Given the description of an element on the screen output the (x, y) to click on. 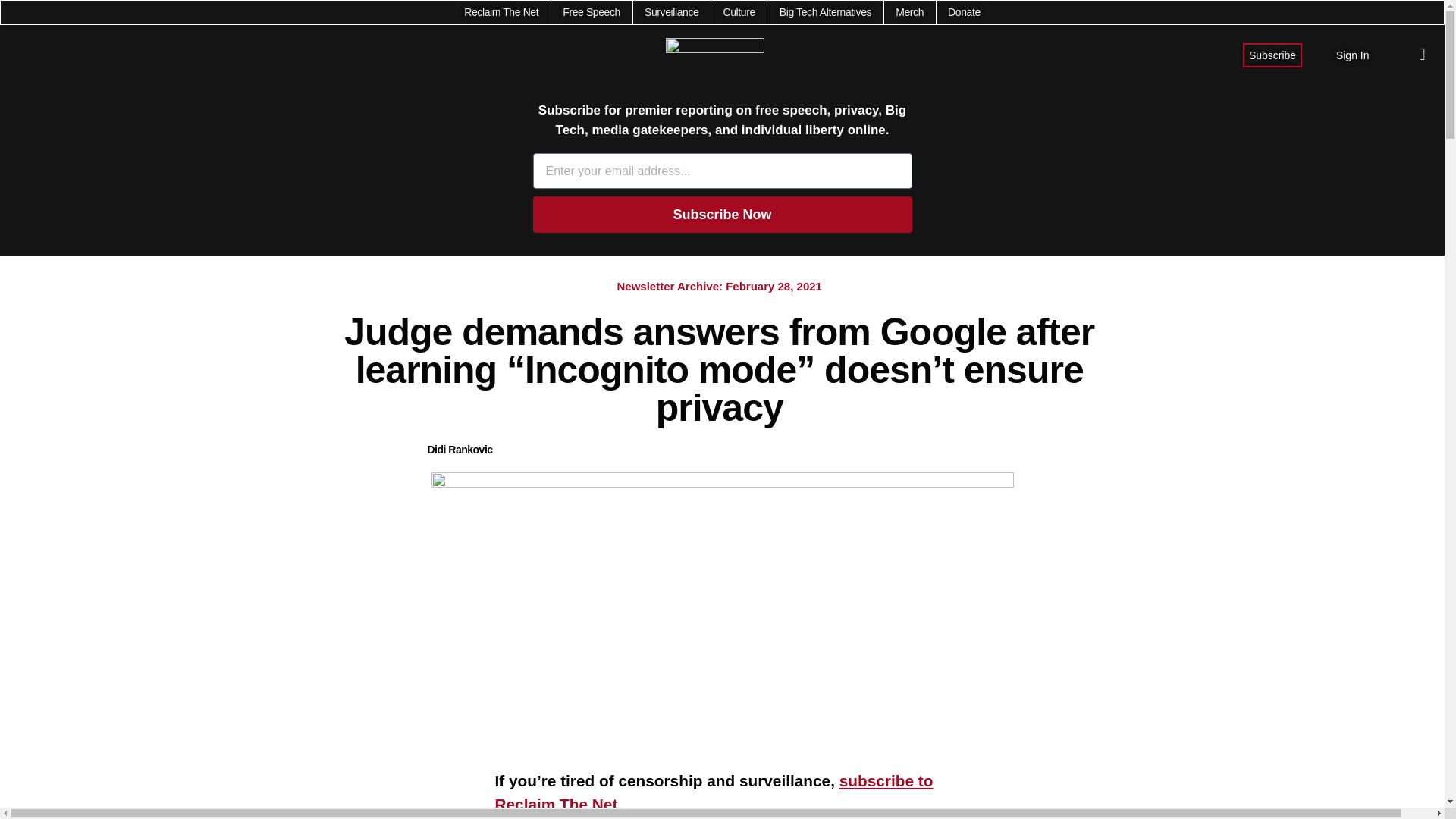
Reclaim The Net (501, 12)
Donate (963, 12)
Big Tech Alternatives (824, 12)
Subscribe Now (721, 214)
Didi Rankovic (460, 449)
Culture (738, 12)
Merch (909, 12)
Sign In (1353, 55)
subscribe to Reclaim The Net. (714, 792)
Free Speech (591, 12)
